Given the description of an element on the screen output the (x, y) to click on. 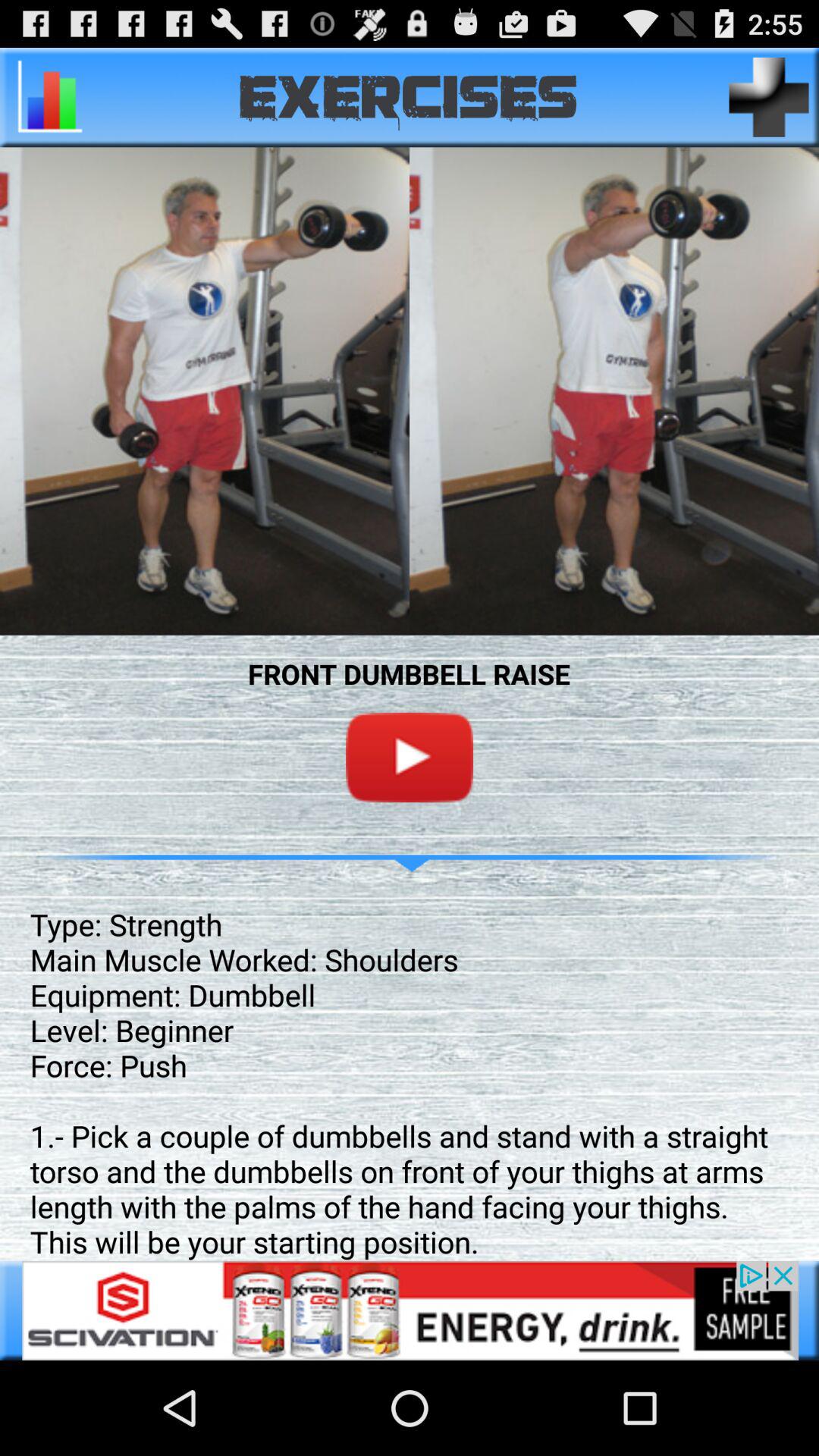
add page (768, 97)
